Given the description of an element on the screen output the (x, y) to click on. 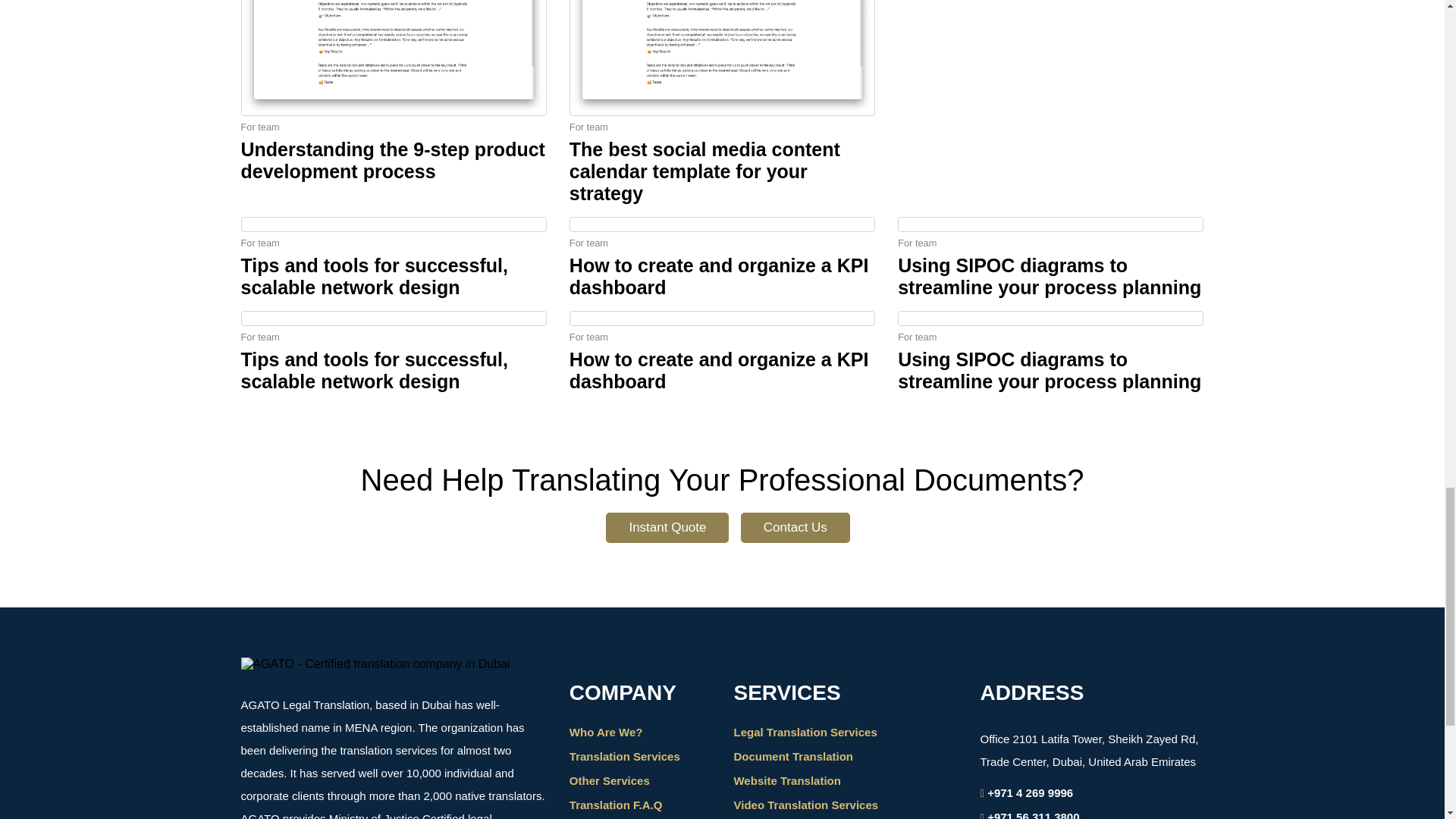
Tips and tools for successful, scalable network design (374, 276)
Understanding the 9-step product development process (392, 159)
Using SIPOC diagrams to streamline your process planning (1049, 276)
How to create and organize a KPI dashboard (719, 276)
